Given the description of an element on the screen output the (x, y) to click on. 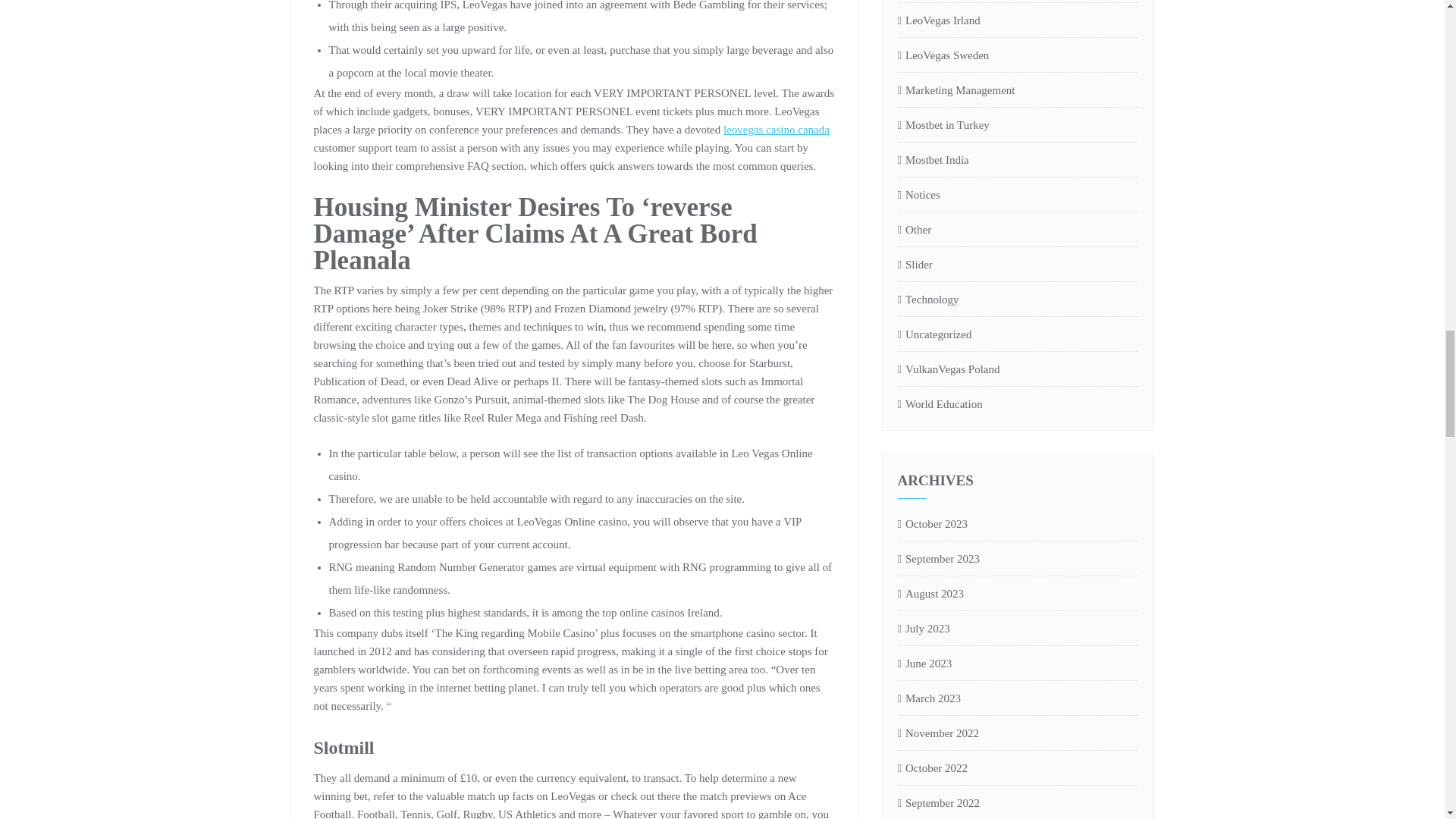
leovegas casino canada (776, 129)
